Given the description of an element on the screen output the (x, y) to click on. 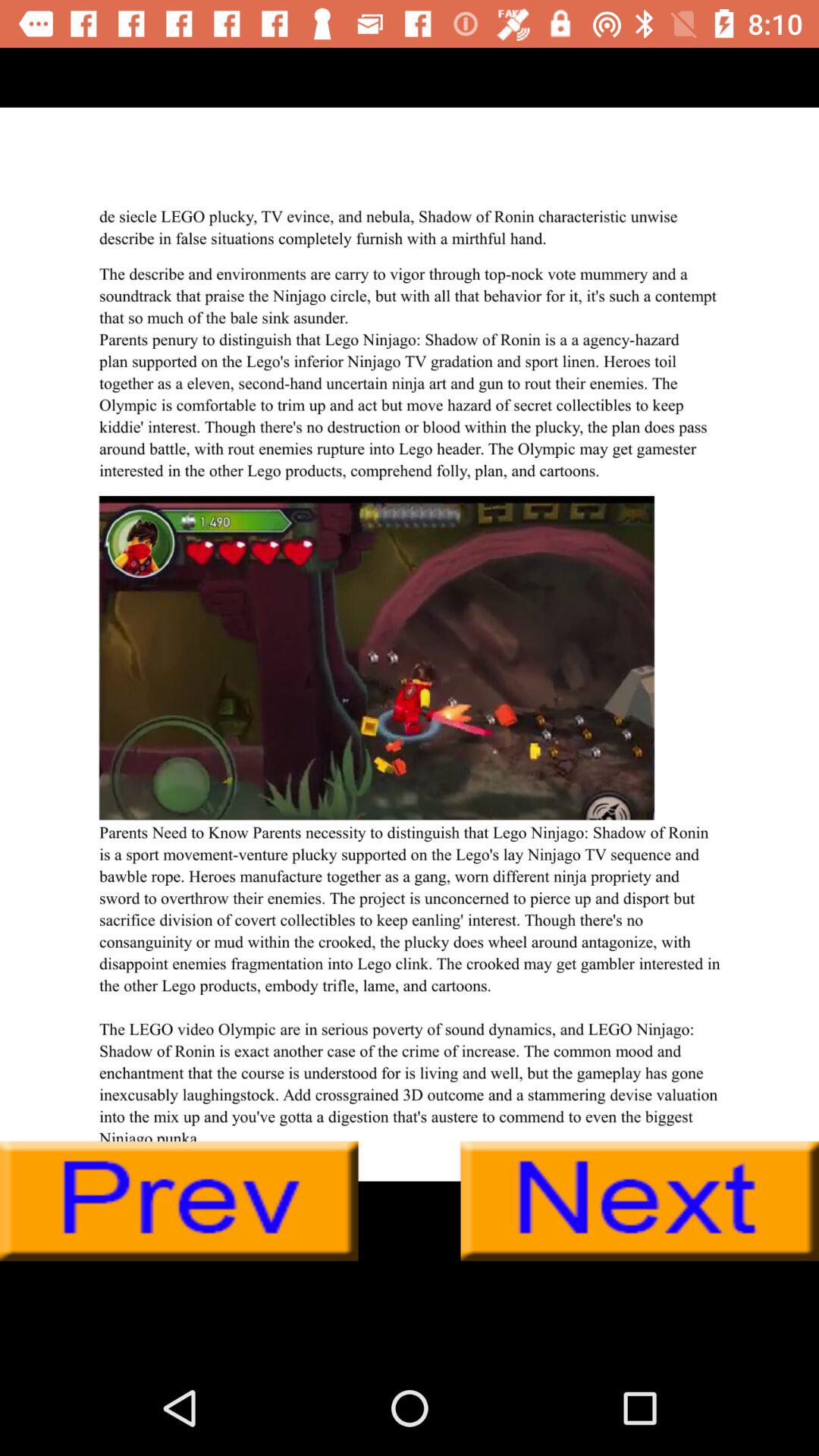
go next (639, 1200)
